Given the description of an element on the screen output the (x, y) to click on. 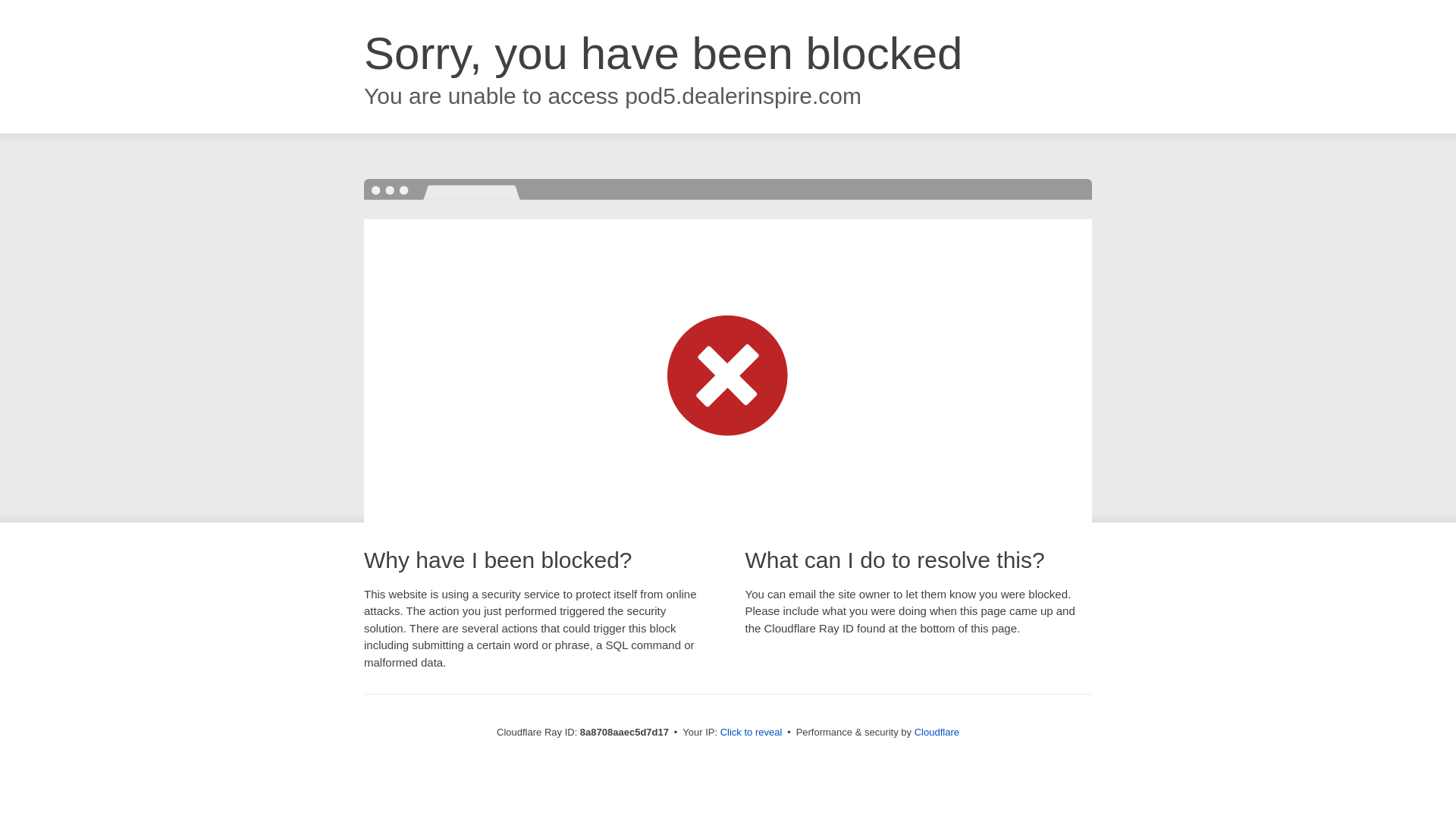
Click to reveal (751, 732)
Cloudflare (936, 731)
